Given the description of an element on the screen output the (x, y) to click on. 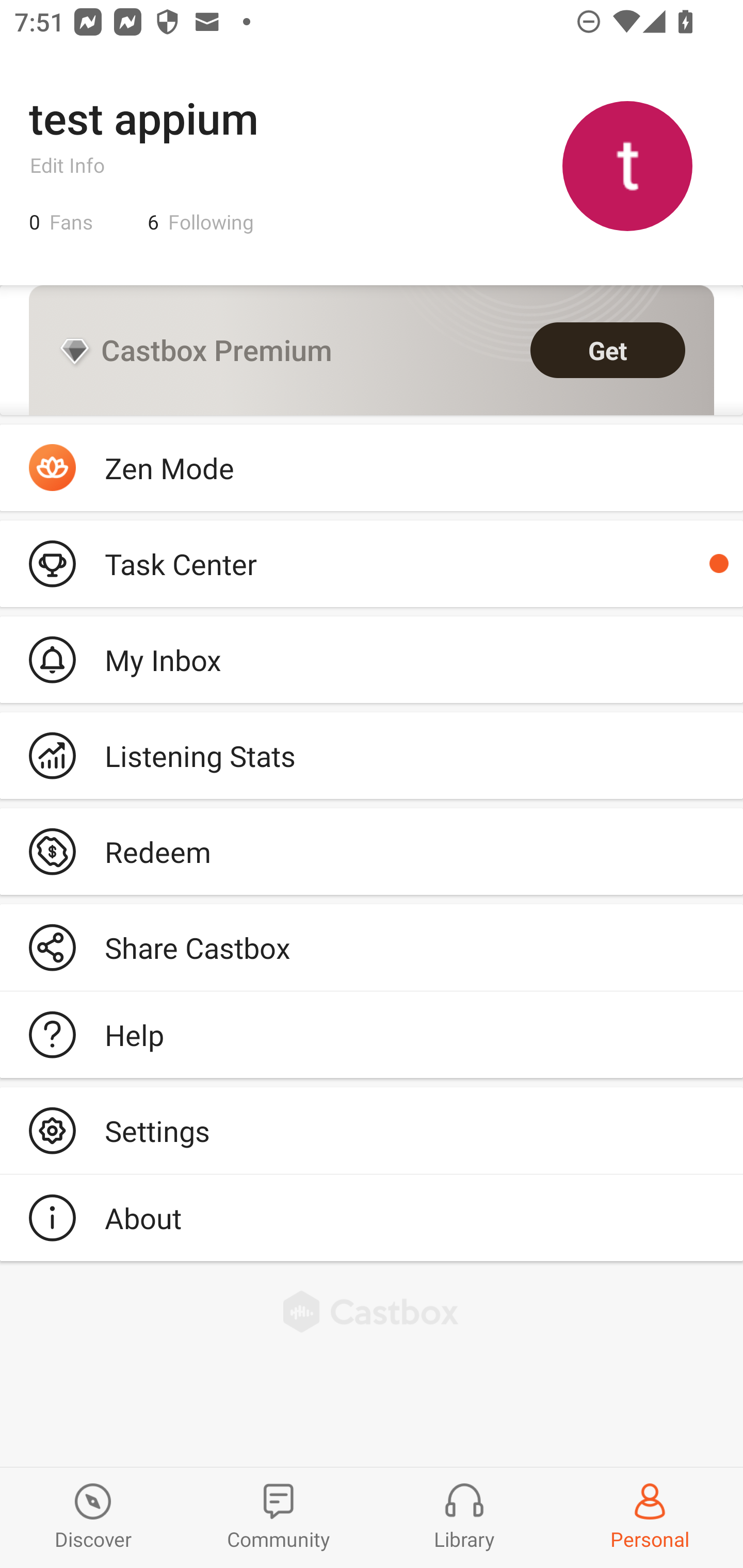
test appium Edit Info 0 Fans 6 Following (371, 165)
0 Fans (60, 221)
6 Following (200, 221)
Castbox Premium Get (371, 350)
Get (607, 350)
Zen Mode (371, 467)
Podcaster  Task Center (371, 563)
 My Inbox (371, 659)
 Listening Stats (371, 755)
 Redeem (371, 851)
 Share Castbox (371, 947)
 Help (371, 1034)
 Settings (371, 1130)
 About (371, 1217)
Discover (92, 1517)
Community (278, 1517)
Library (464, 1517)
Profiles and Settings Personal (650, 1517)
